Given the description of an element on the screen output the (x, y) to click on. 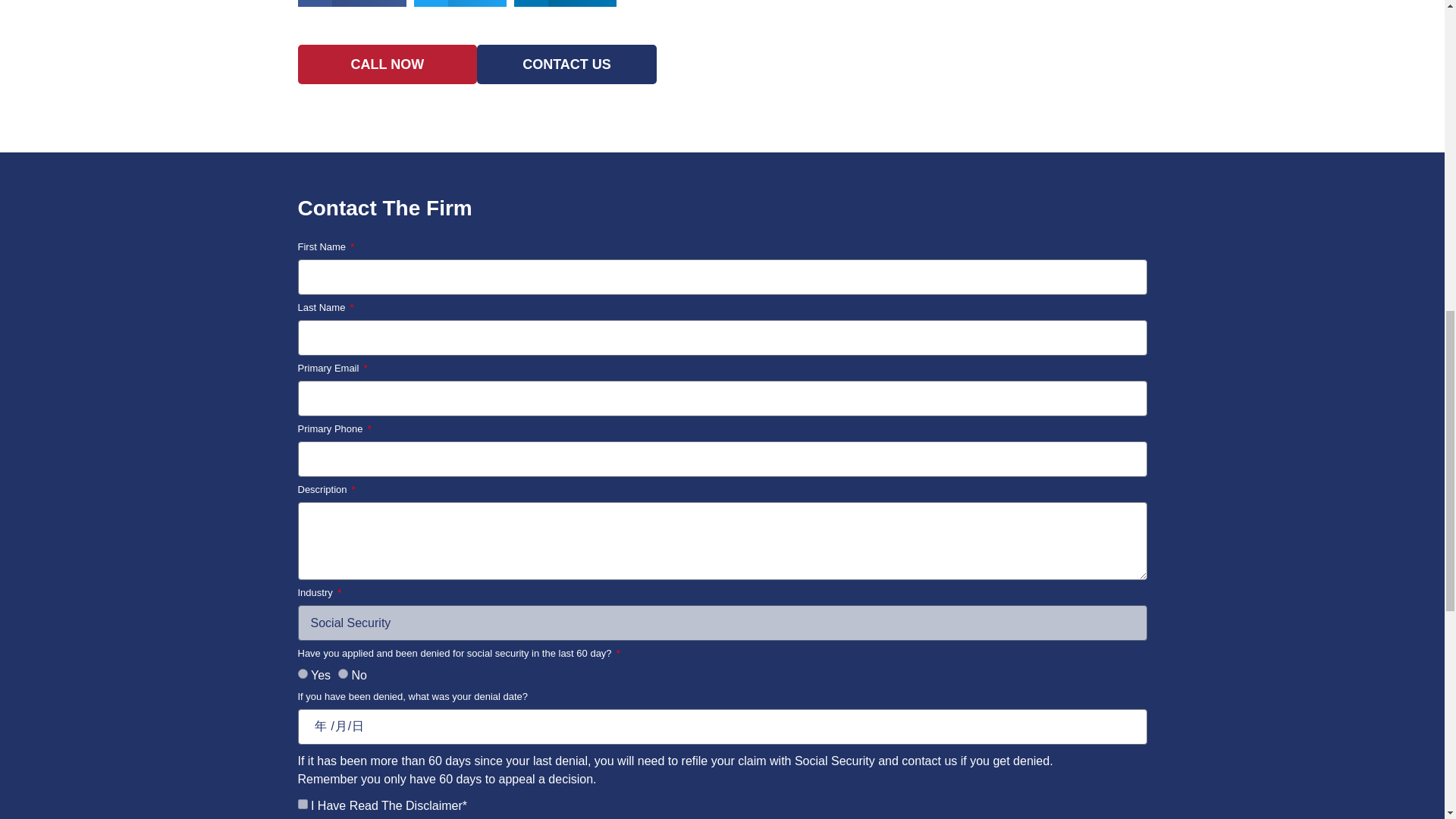
on (302, 804)
Yes (302, 673)
No (342, 673)
